Given the description of an element on the screen output the (x, y) to click on. 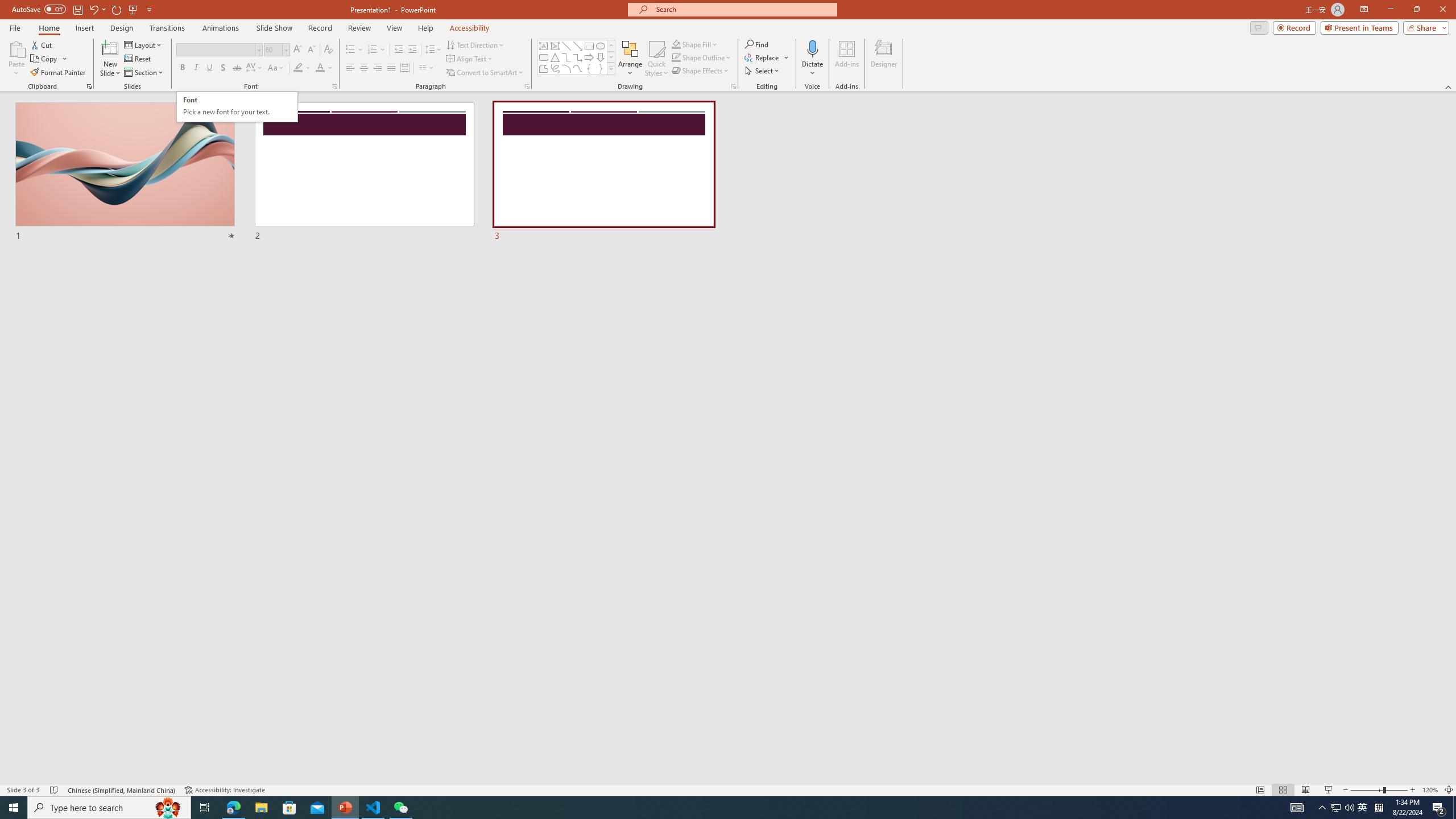
Shape Outline Blue, Accent 1 (675, 56)
